Given the description of an element on the screen output the (x, y) to click on. 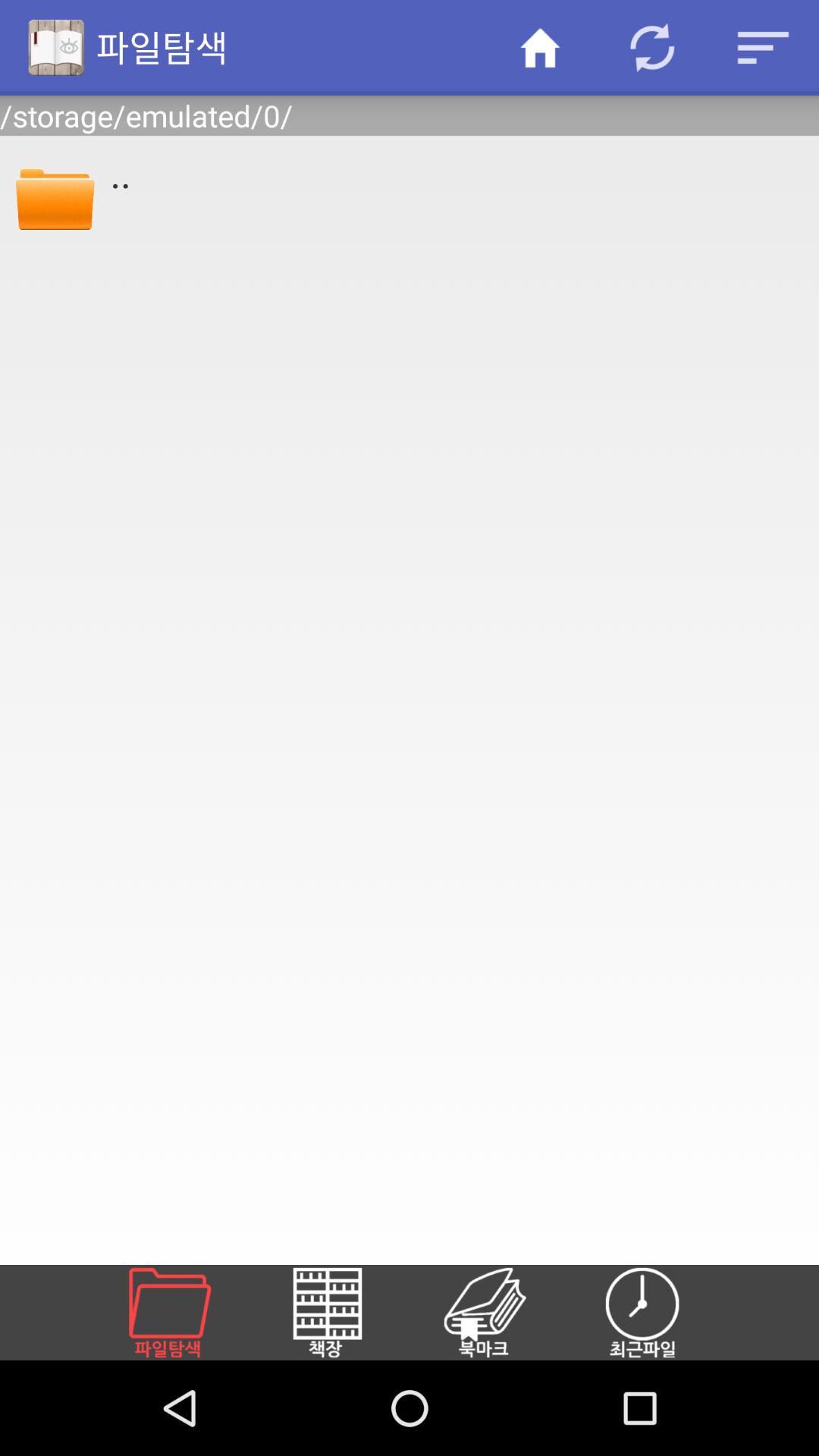
history (660, 1312)
